Given the description of an element on the screen output the (x, y) to click on. 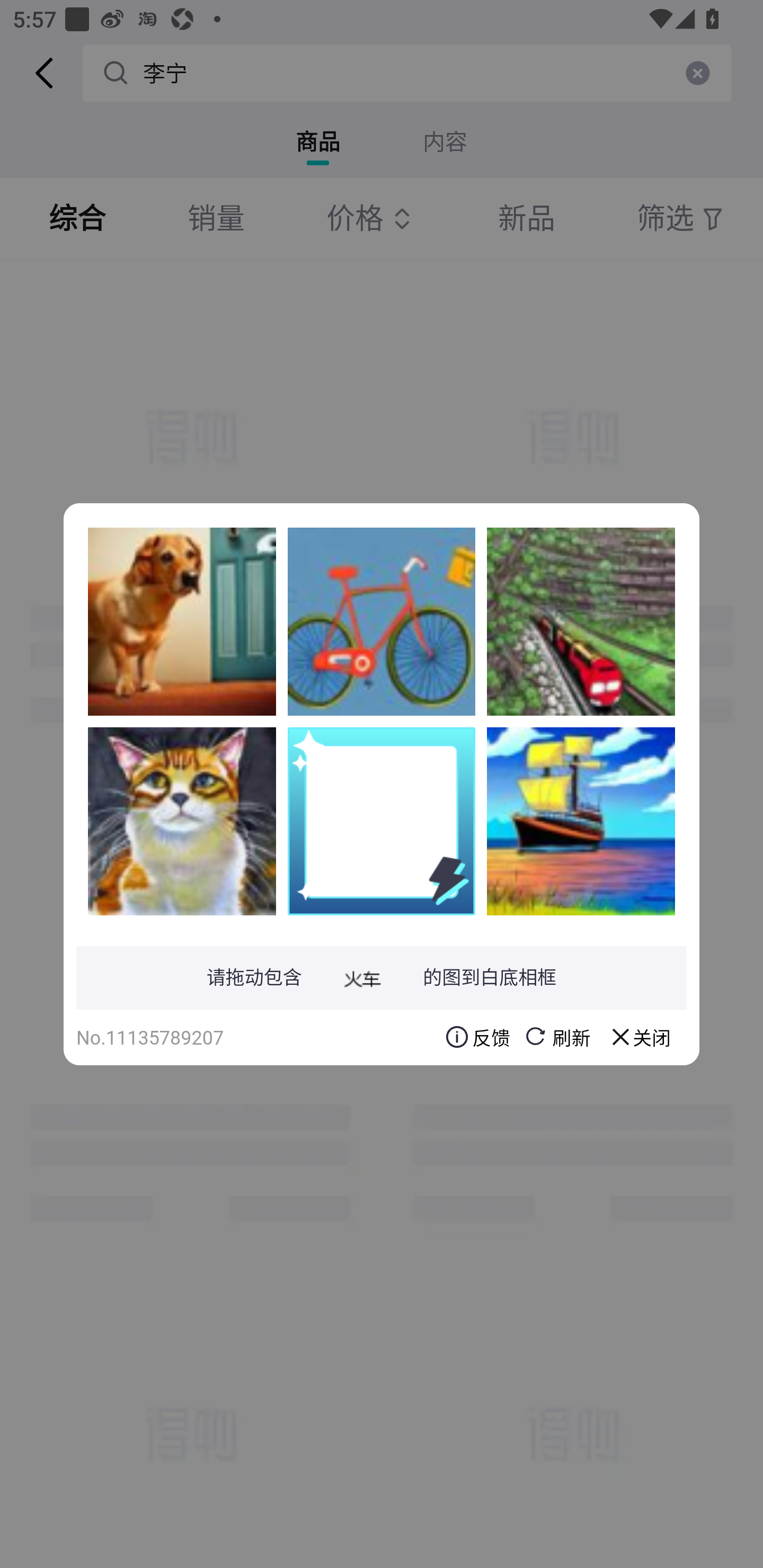
Kxi9rVASdxzRKTy+gO (381, 621)
0y09hfEi76s9hxIou8AVnl8Ihr0B3ZGaF (181, 820)
pqCXwhkPDCHGi42j+OJGyD21fa02jtW4WFR91SCmeQmn9WB (580, 820)
